Given the description of an element on the screen output the (x, y) to click on. 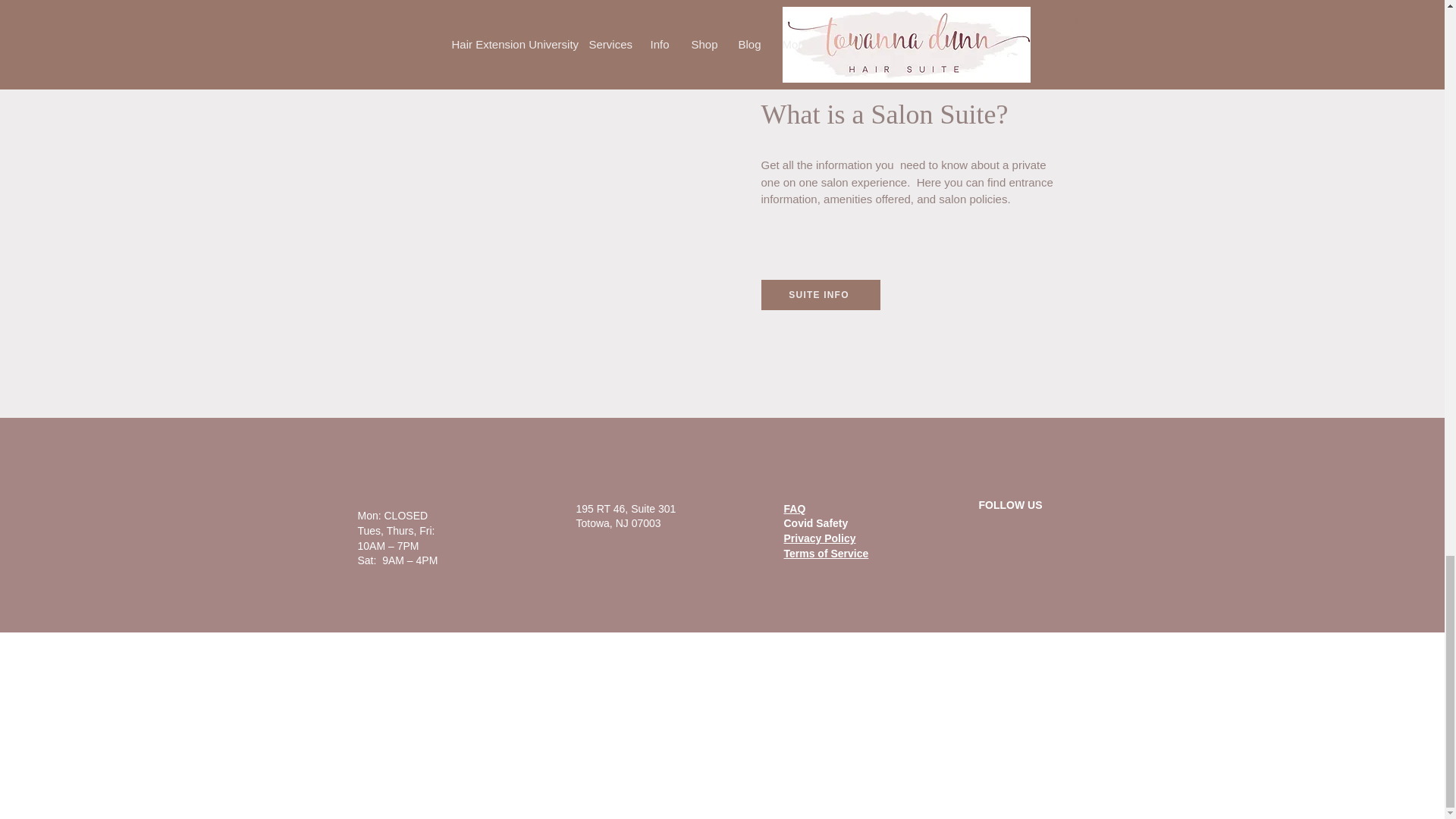
FAQ (795, 508)
SUITE INFO (820, 295)
Privacy Policy (820, 538)
Terms of Service (826, 553)
